Given the description of an element on the screen output the (x, y) to click on. 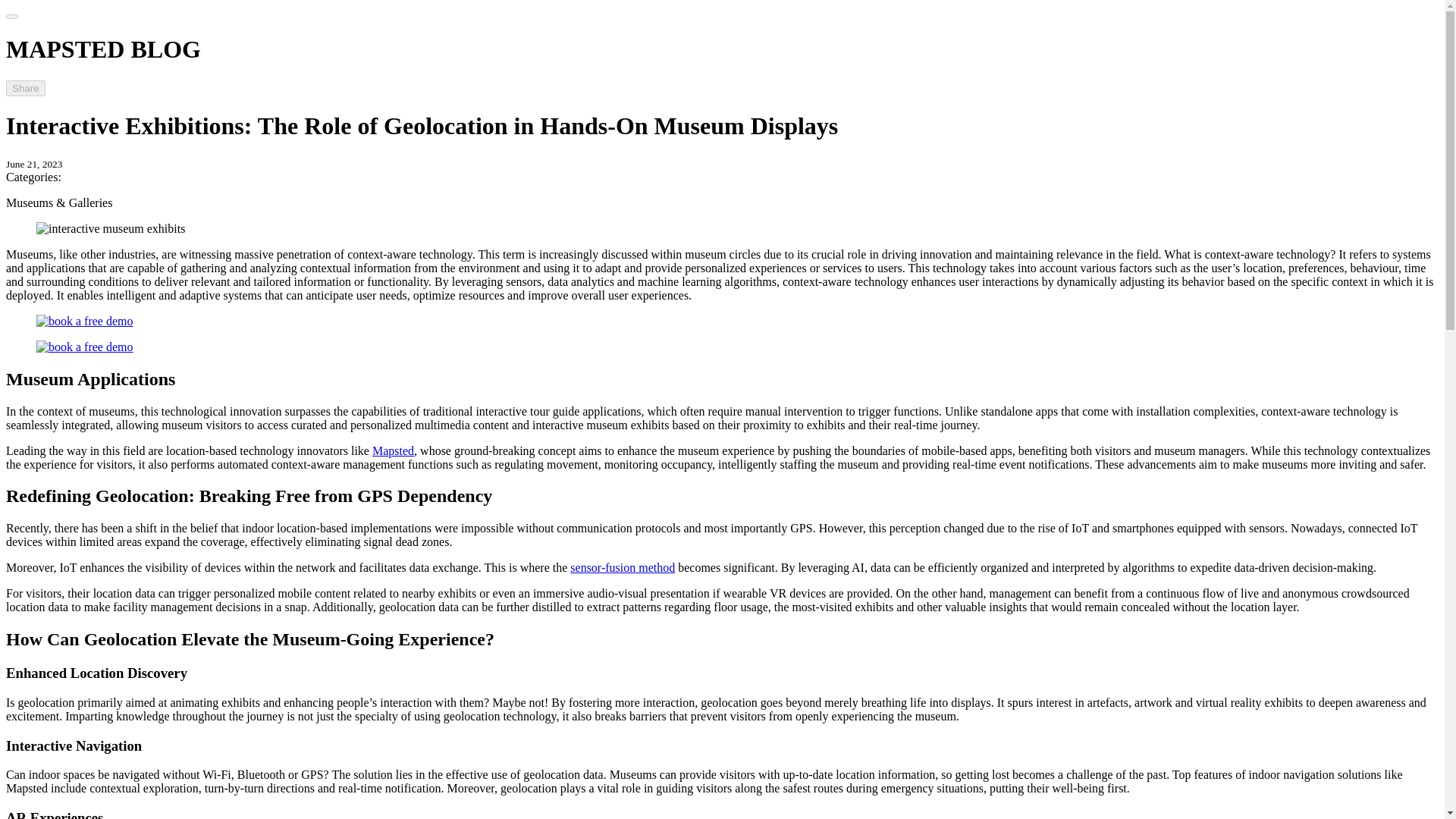
Mapsted (392, 450)
sensor-fusion method (622, 567)
Share (25, 88)
